Given the description of an element on the screen output the (x, y) to click on. 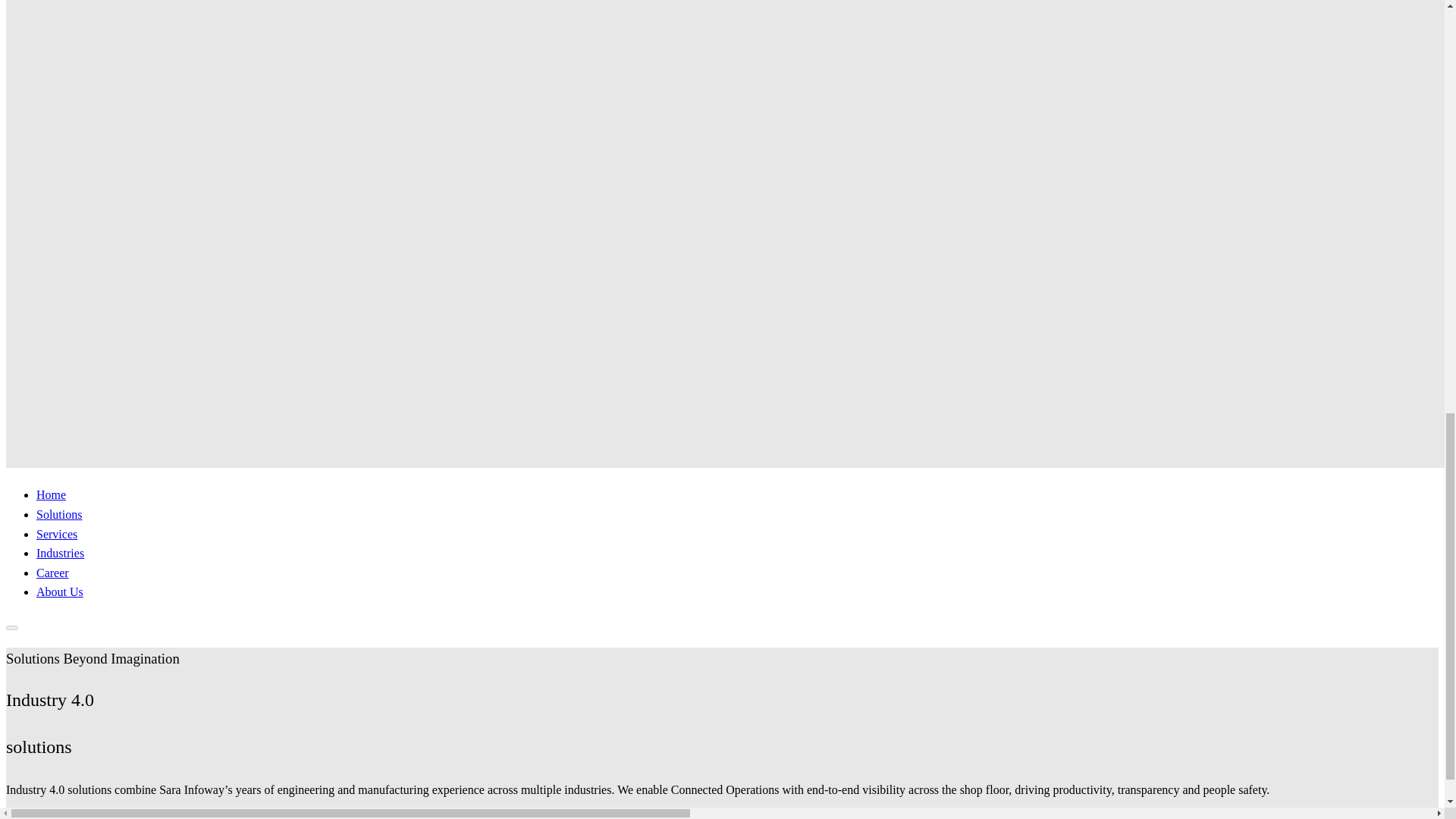
Home (50, 494)
Industries (60, 553)
Services (56, 533)
Career (59, 591)
Solutions (52, 572)
